Given the description of an element on the screen output the (x, y) to click on. 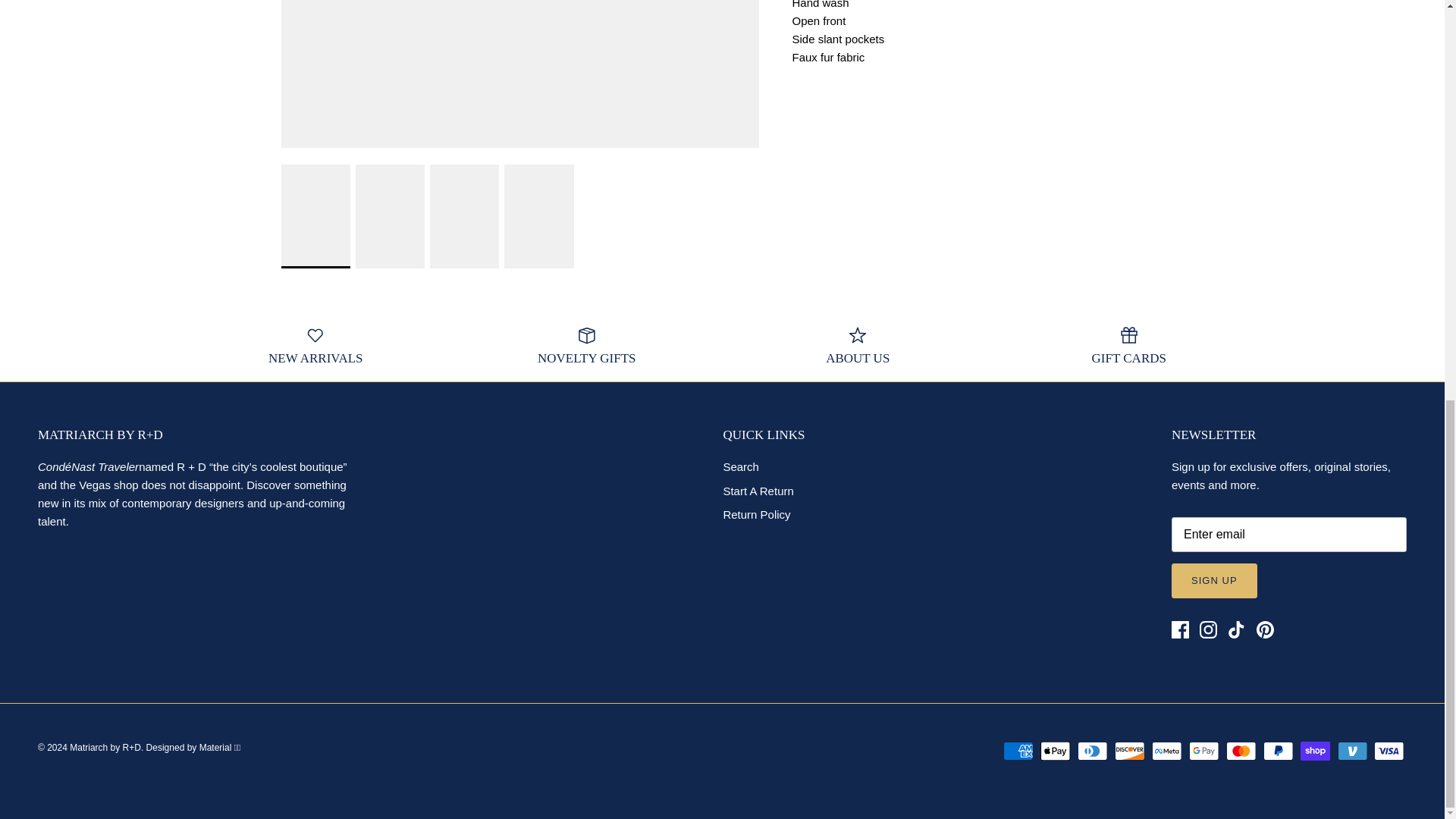
Discover (1129, 751)
American Express (1018, 751)
Diners Club (1092, 751)
Apple Pay (1055, 751)
Instagram (1208, 629)
Pinterest (1263, 629)
Facebook (1180, 629)
